Given the description of an element on the screen output the (x, y) to click on. 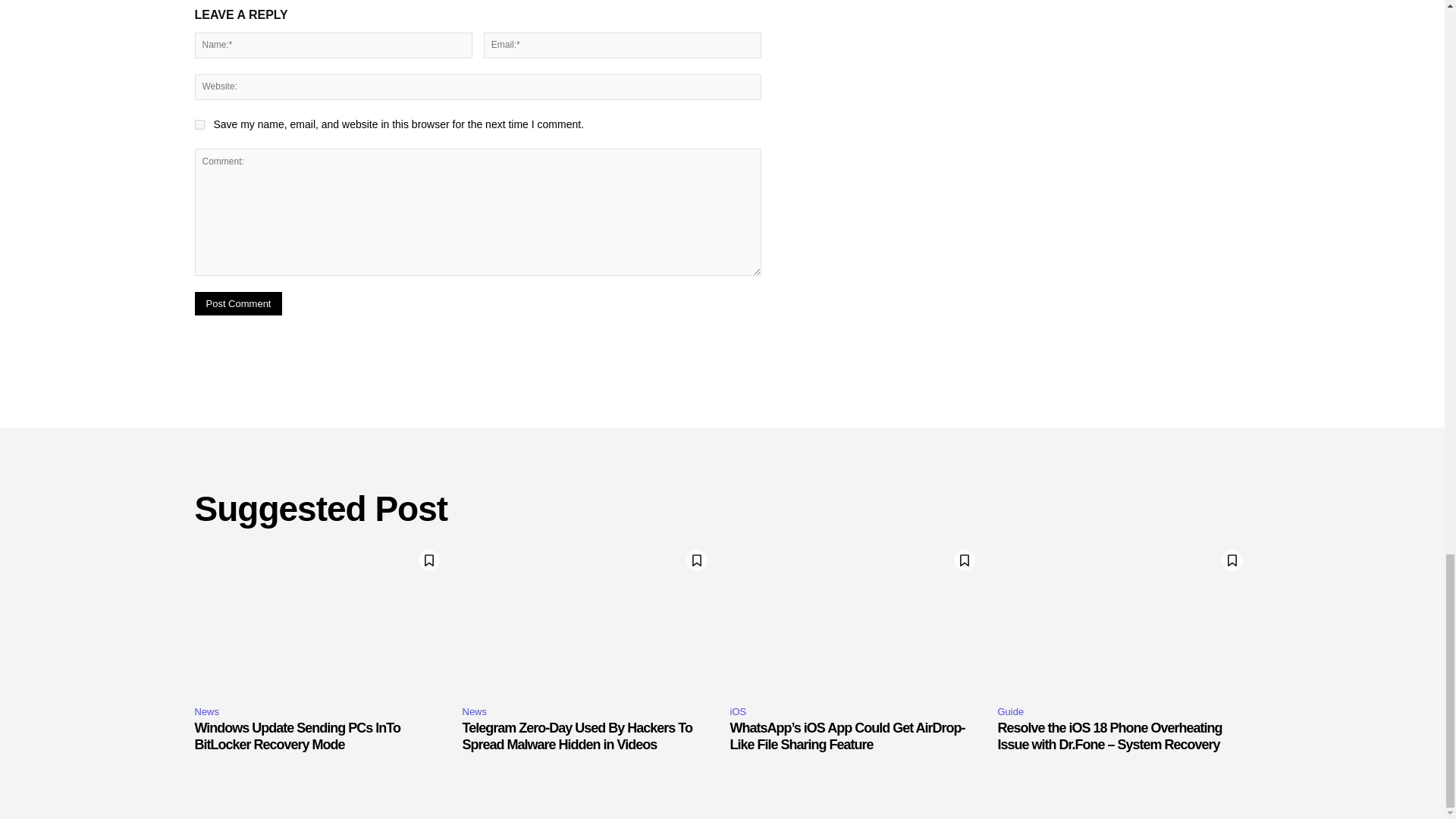
Post Comment (237, 303)
yes (198, 124)
Post Comment (237, 303)
